Given the description of an element on the screen output the (x, y) to click on. 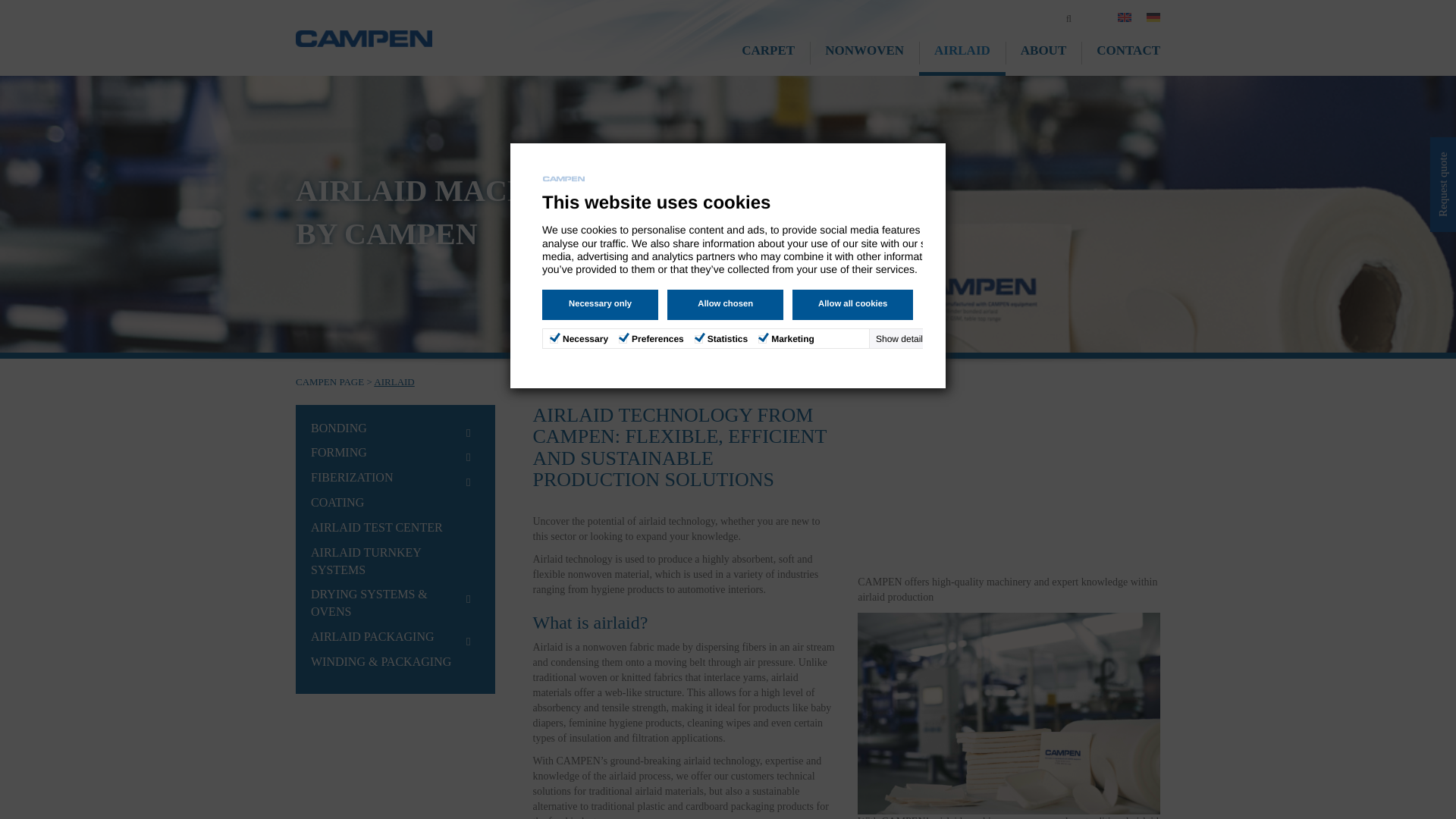
Show details (915, 338)
Allow chosen (724, 304)
Necessary only (599, 304)
Allow all cookies (852, 304)
